Given the description of an element on the screen output the (x, y) to click on. 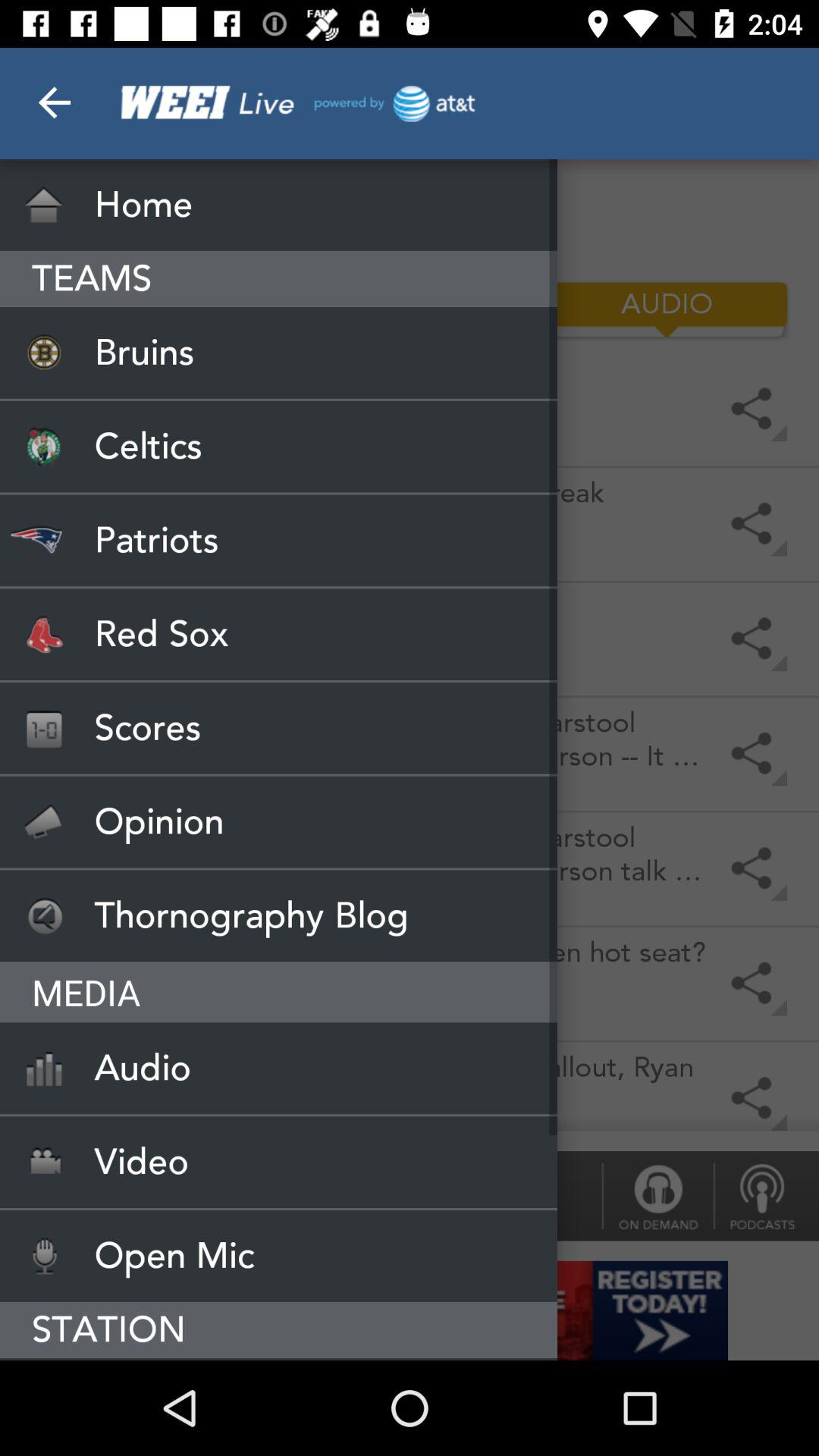
launch item above the station icon (278, 1255)
